Given the description of an element on the screen output the (x, y) to click on. 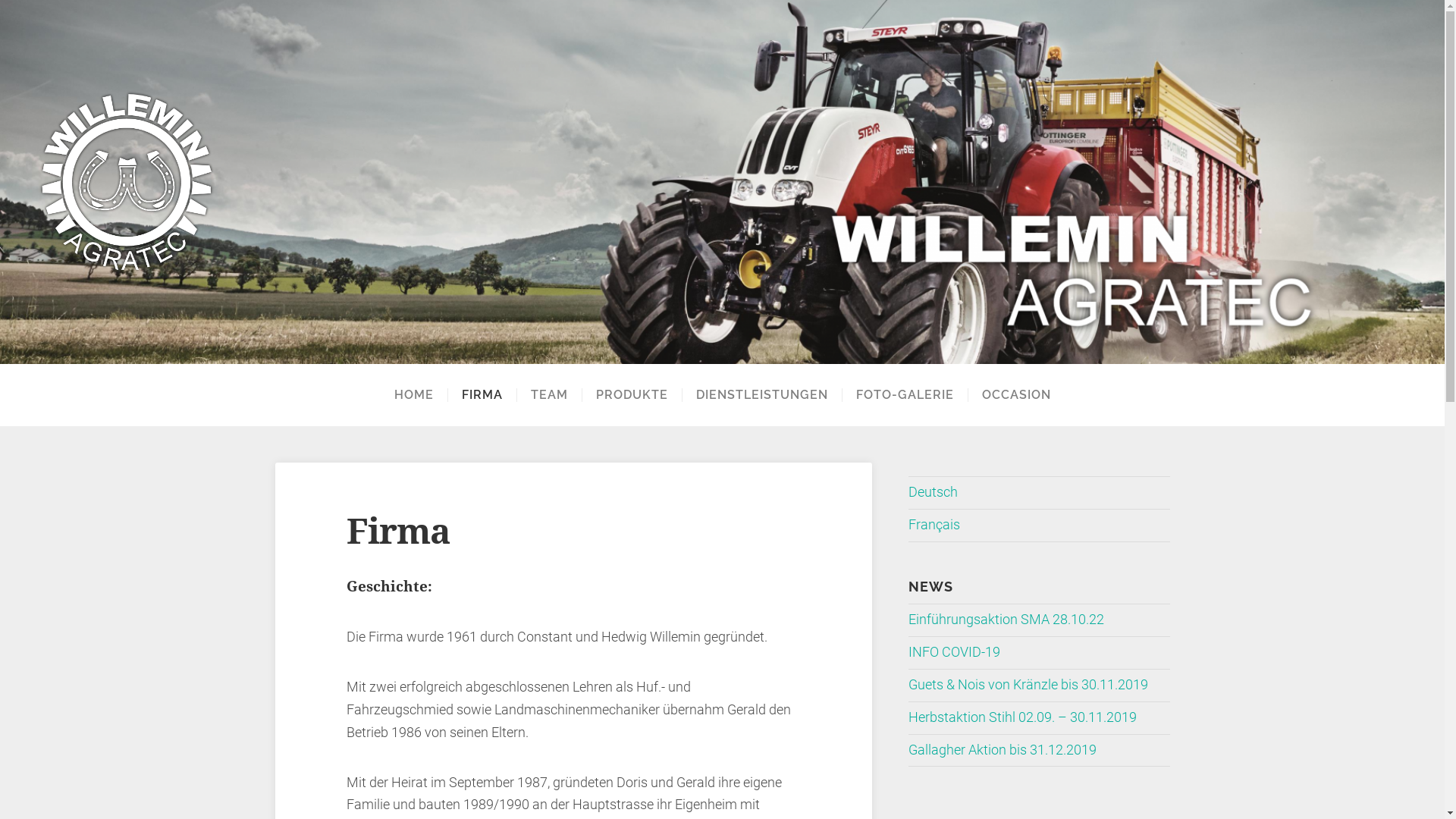
Agratec Element type: text (722, 181)
FIRMA Element type: text (481, 394)
TEAM Element type: text (547, 394)
HOME Element type: text (413, 394)
DIENSTLEISTUNGEN Element type: text (760, 394)
FOTO-GALERIE Element type: text (904, 394)
Gallagher Aktion bis 31.12.2019 Element type: text (1002, 749)
PRODUKTE Element type: text (630, 394)
OCCASION Element type: text (1015, 394)
Deutsch Element type: text (932, 491)
INFO COVID-19 Element type: text (954, 651)
